Given the description of an element on the screen output the (x, y) to click on. 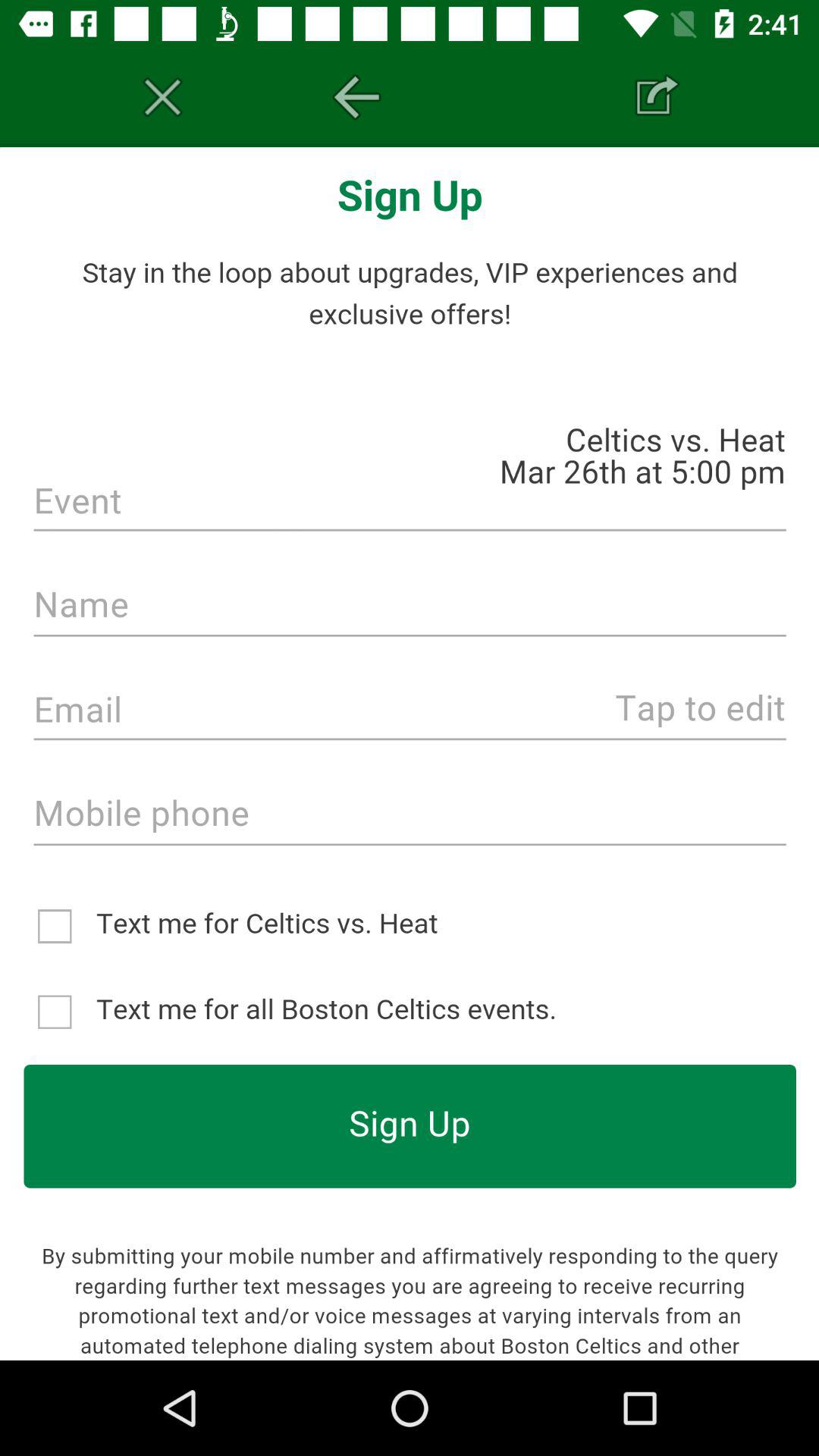
share the page (656, 97)
